Given the description of an element on the screen output the (x, y) to click on. 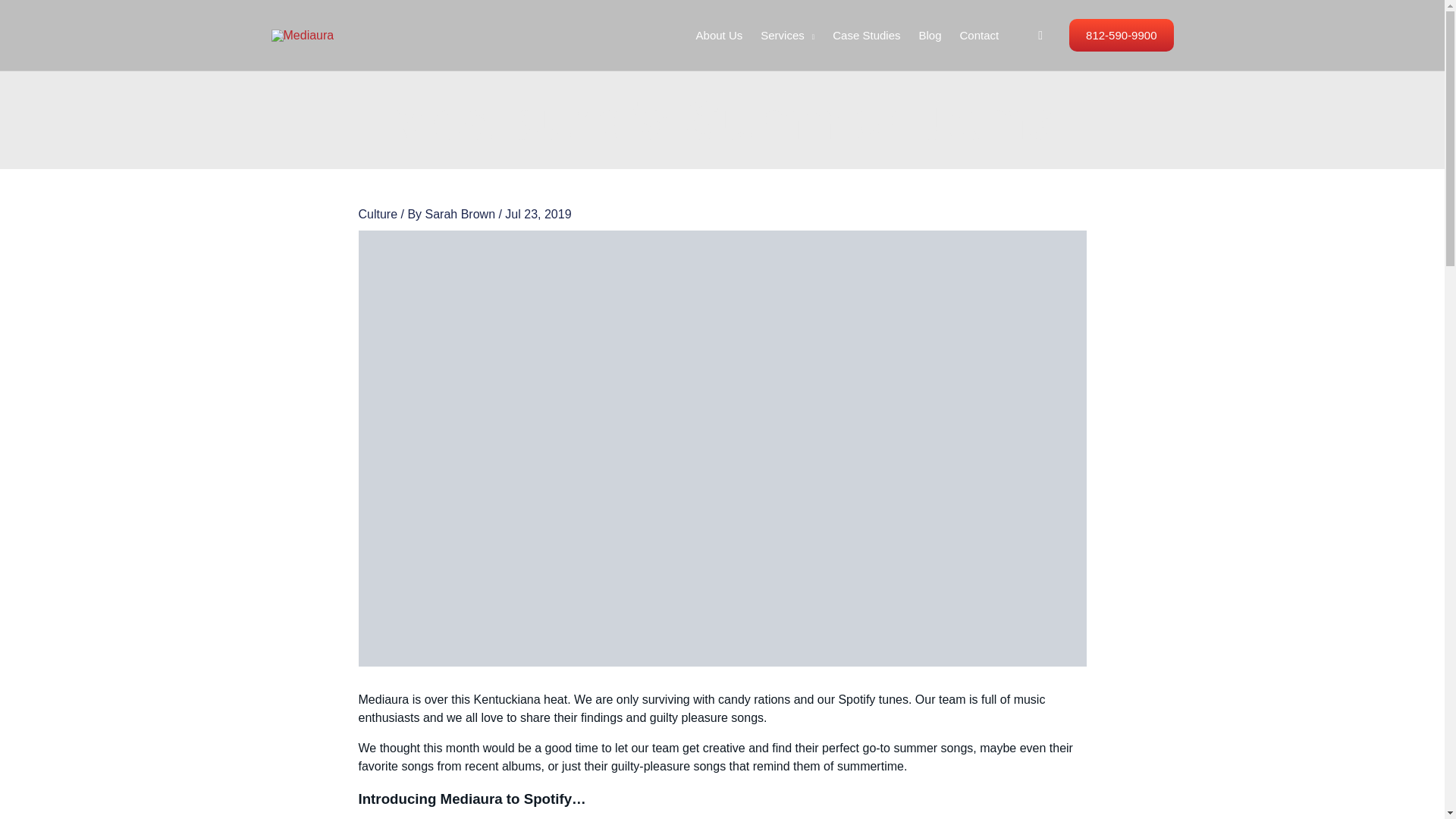
View all posts by Sarah Brown (462, 214)
About Us (719, 35)
812-590-9900 (1120, 34)
Case Studies (866, 35)
Services (787, 35)
